Given the description of an element on the screen output the (x, y) to click on. 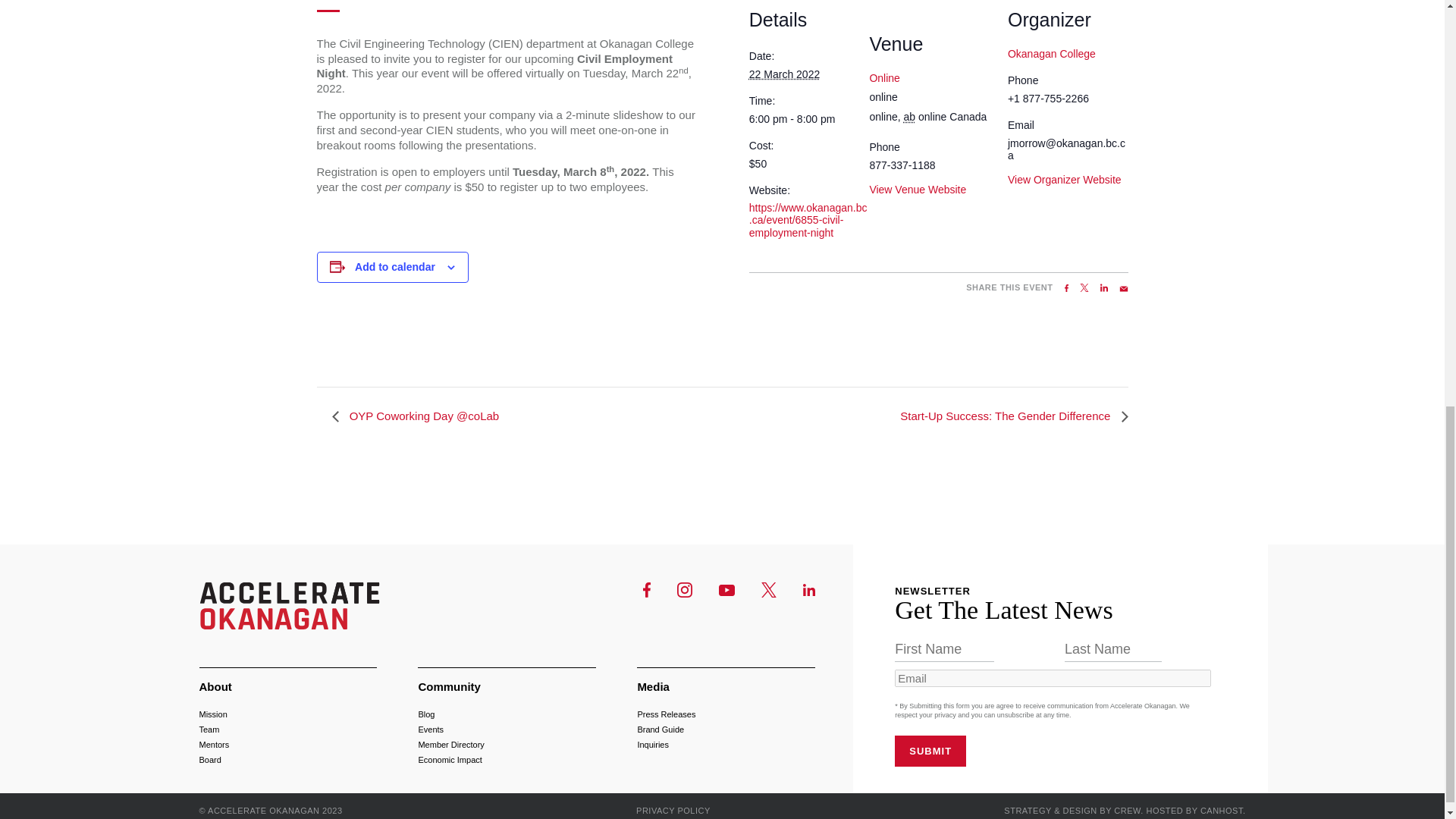
2022-03-22 (809, 119)
ab (909, 116)
Okanagan College (1051, 53)
2022-03-22 (784, 73)
